Given the description of an element on the screen output the (x, y) to click on. 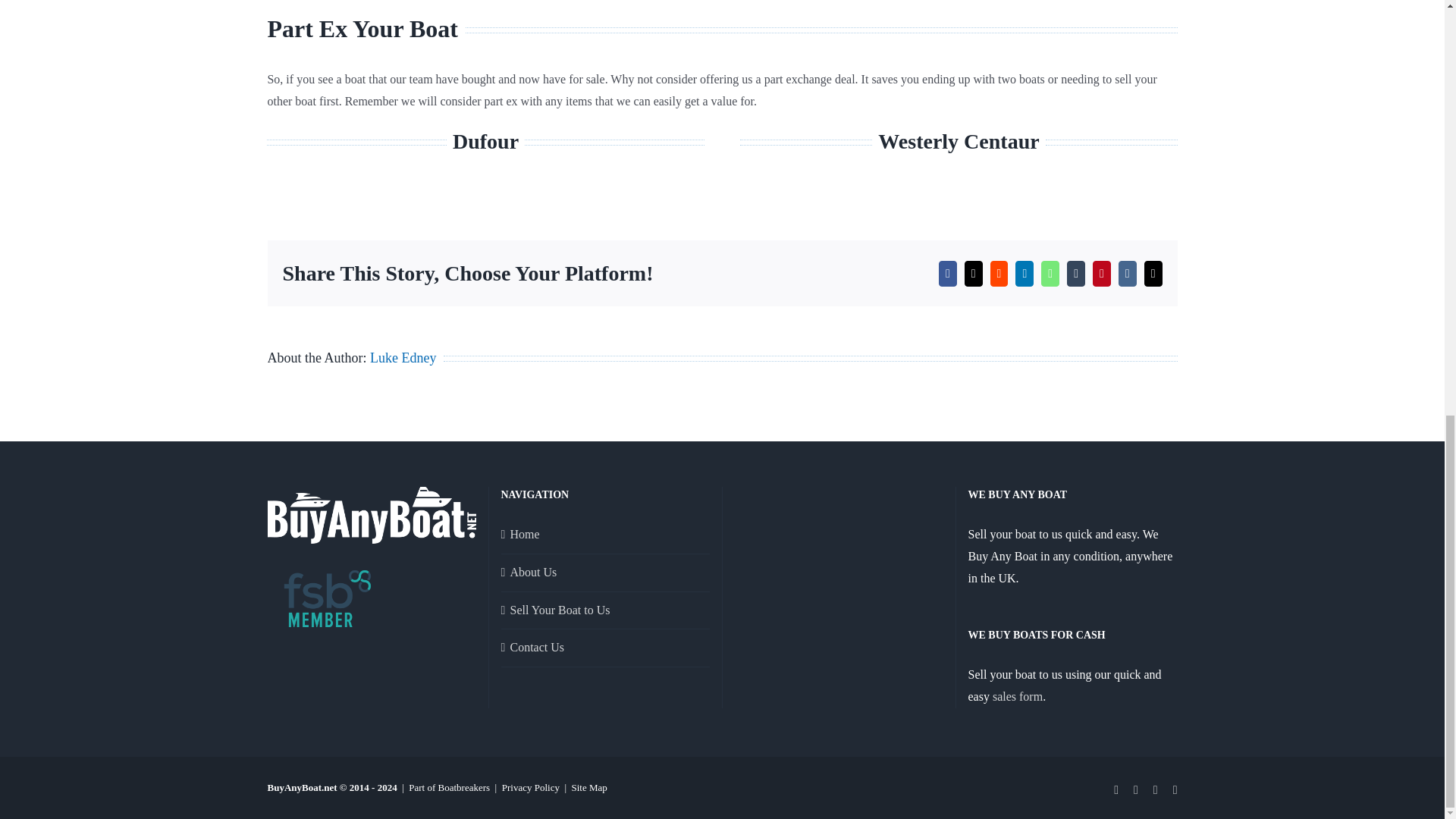
Luke Edney (402, 357)
